Given the description of an element on the screen output the (x, y) to click on. 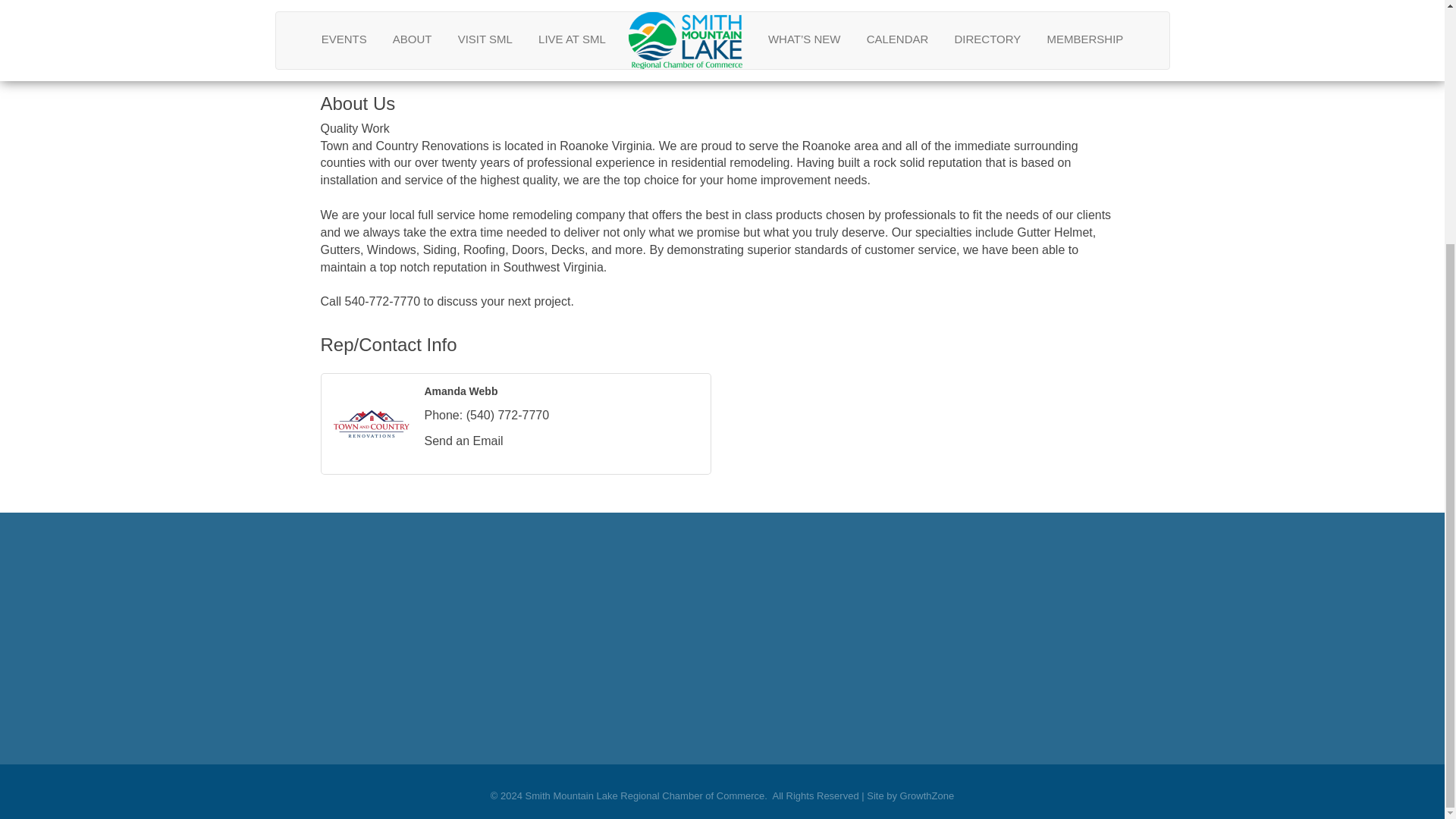
View on Facebook (333, 48)
